Given the description of an element on the screen output the (x, y) to click on. 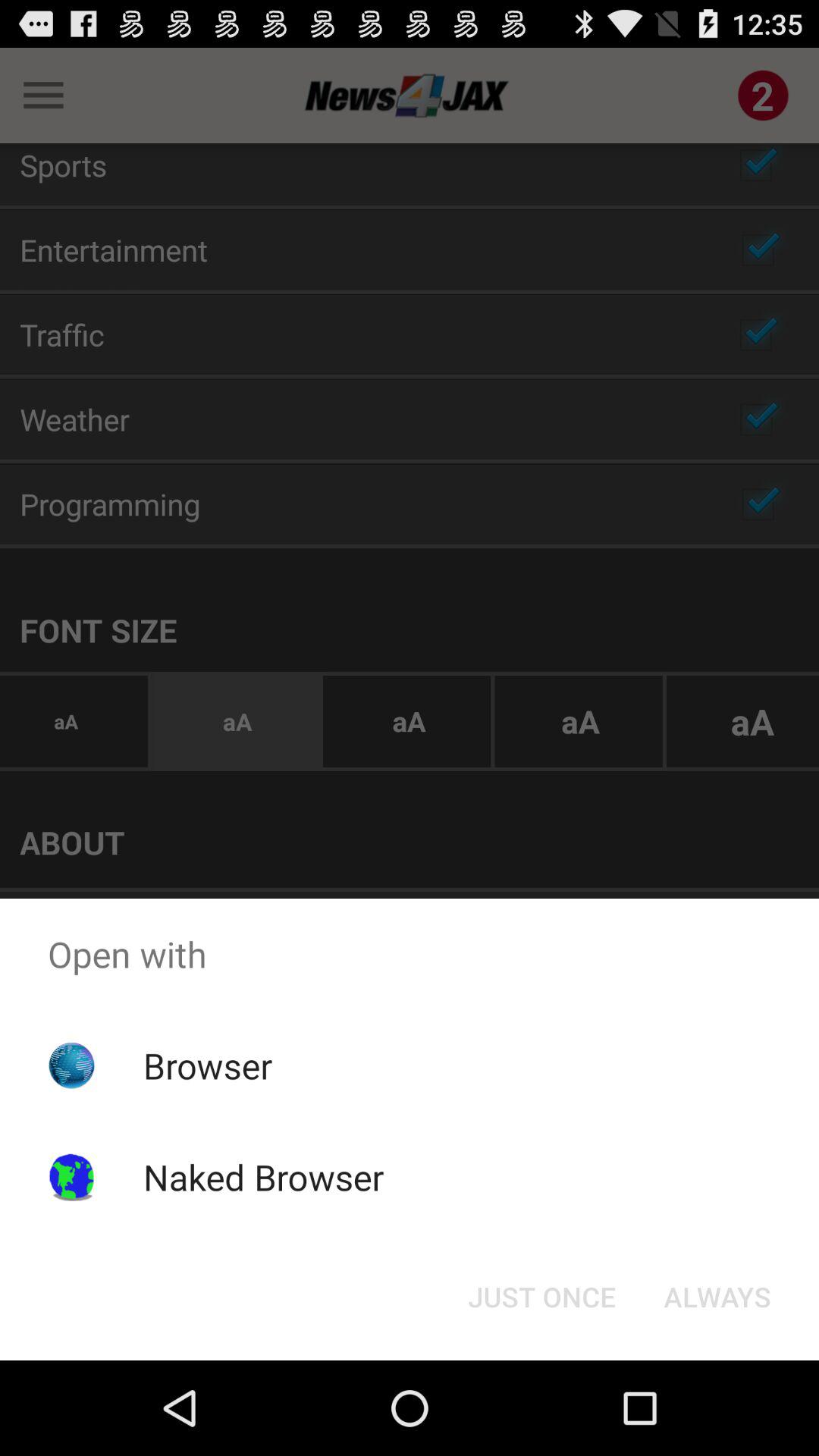
turn on just once item (541, 1296)
